Given the description of an element on the screen output the (x, y) to click on. 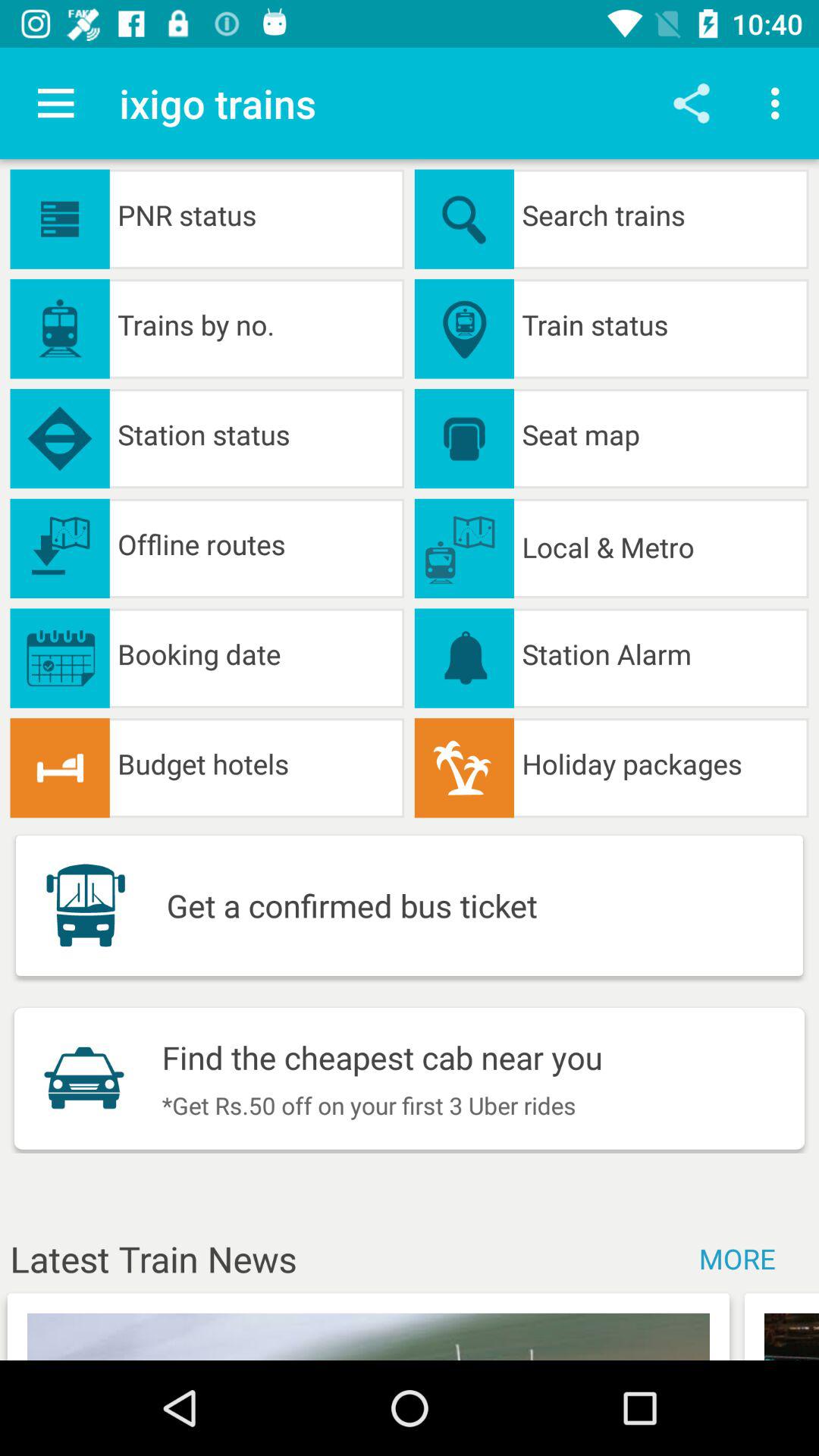
turn on the item to the left of the ixigo trains (55, 103)
